Given the description of an element on the screen output the (x, y) to click on. 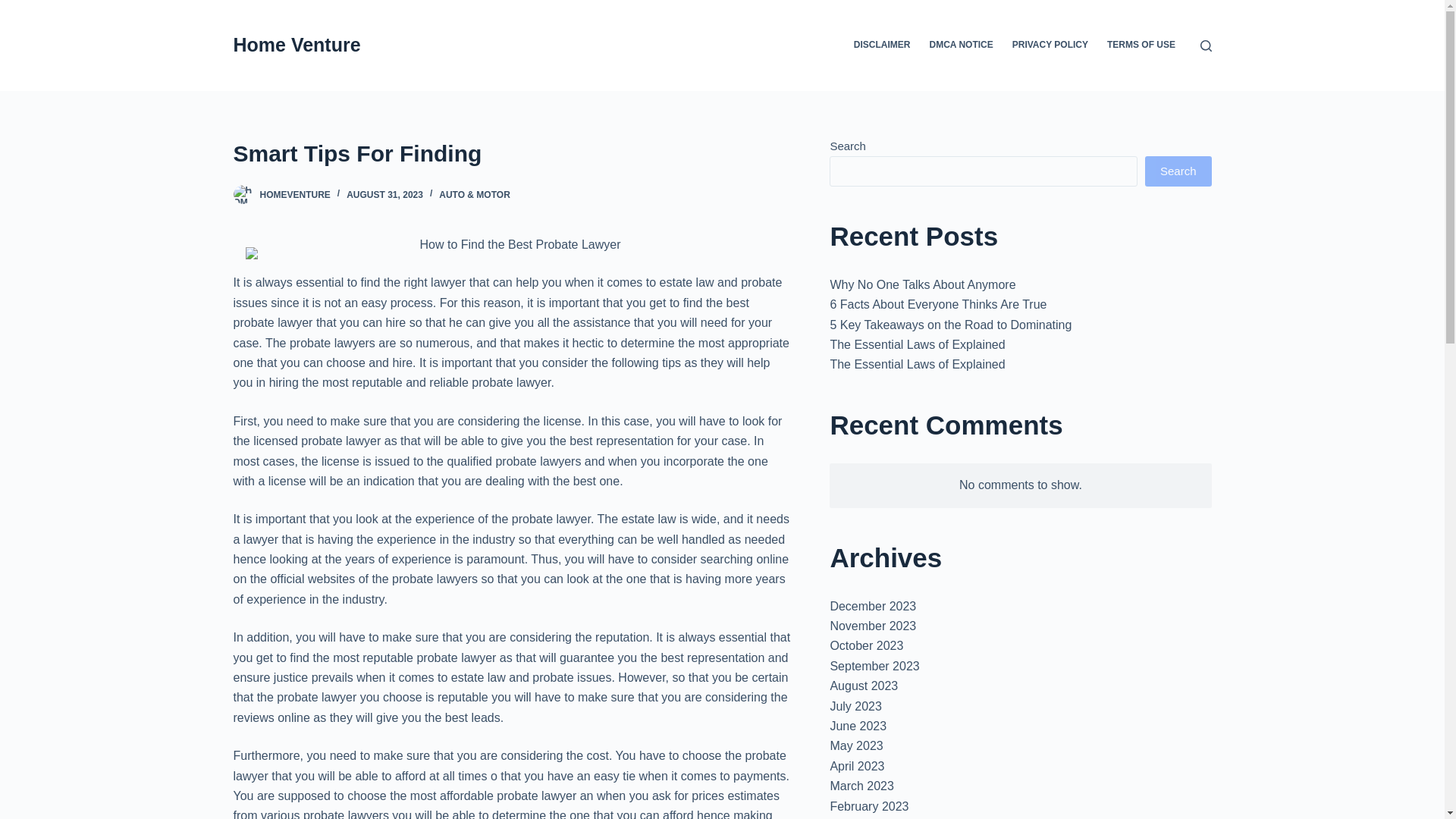
April 2023 (856, 766)
February 2023 (868, 806)
Why No One Talks About Anymore (921, 284)
July 2023 (855, 706)
PRIVACY POLICY (1050, 45)
Skip to content (15, 7)
August 2023 (863, 685)
Smart Tips For Finding (511, 153)
The Essential Laws of Explained (916, 364)
June 2023 (857, 725)
